Given the description of an element on the screen output the (x, y) to click on. 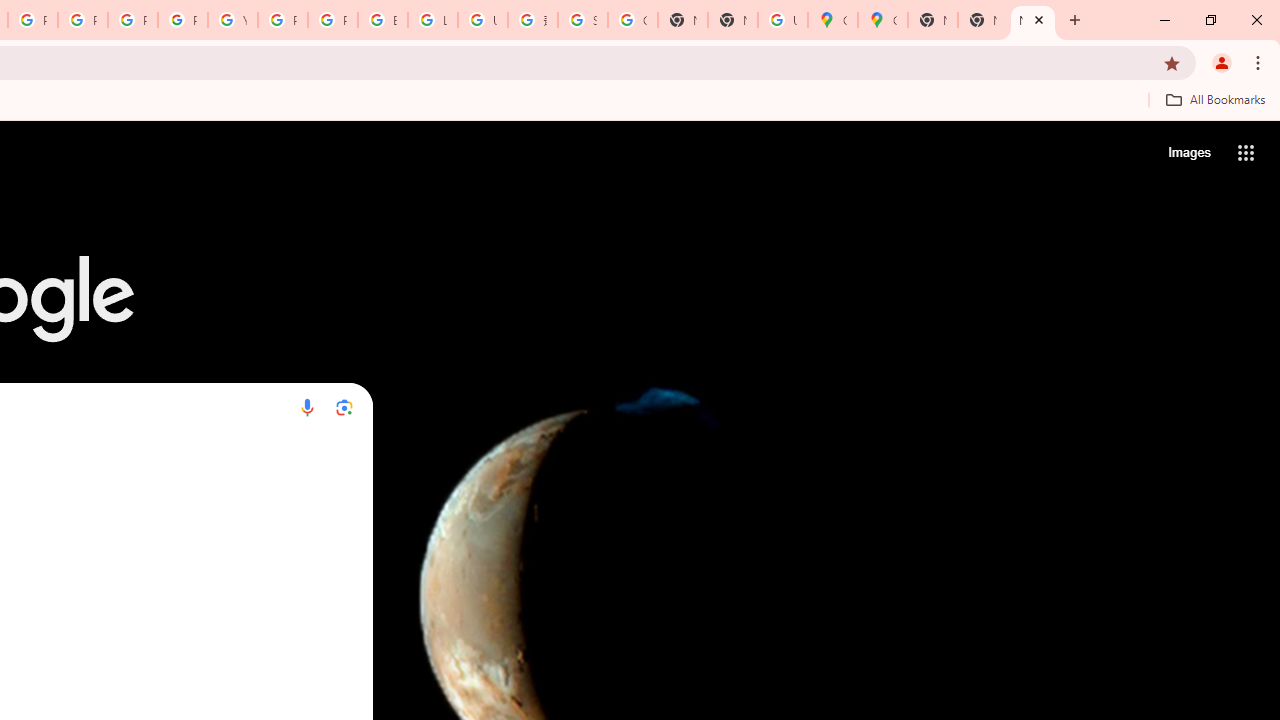
Sign in - Google Accounts (582, 20)
Google Maps (832, 20)
Remove (319, 466)
YouTube (232, 20)
Privacy Help Center - Policies Help (132, 20)
